Given the description of an element on the screen output the (x, y) to click on. 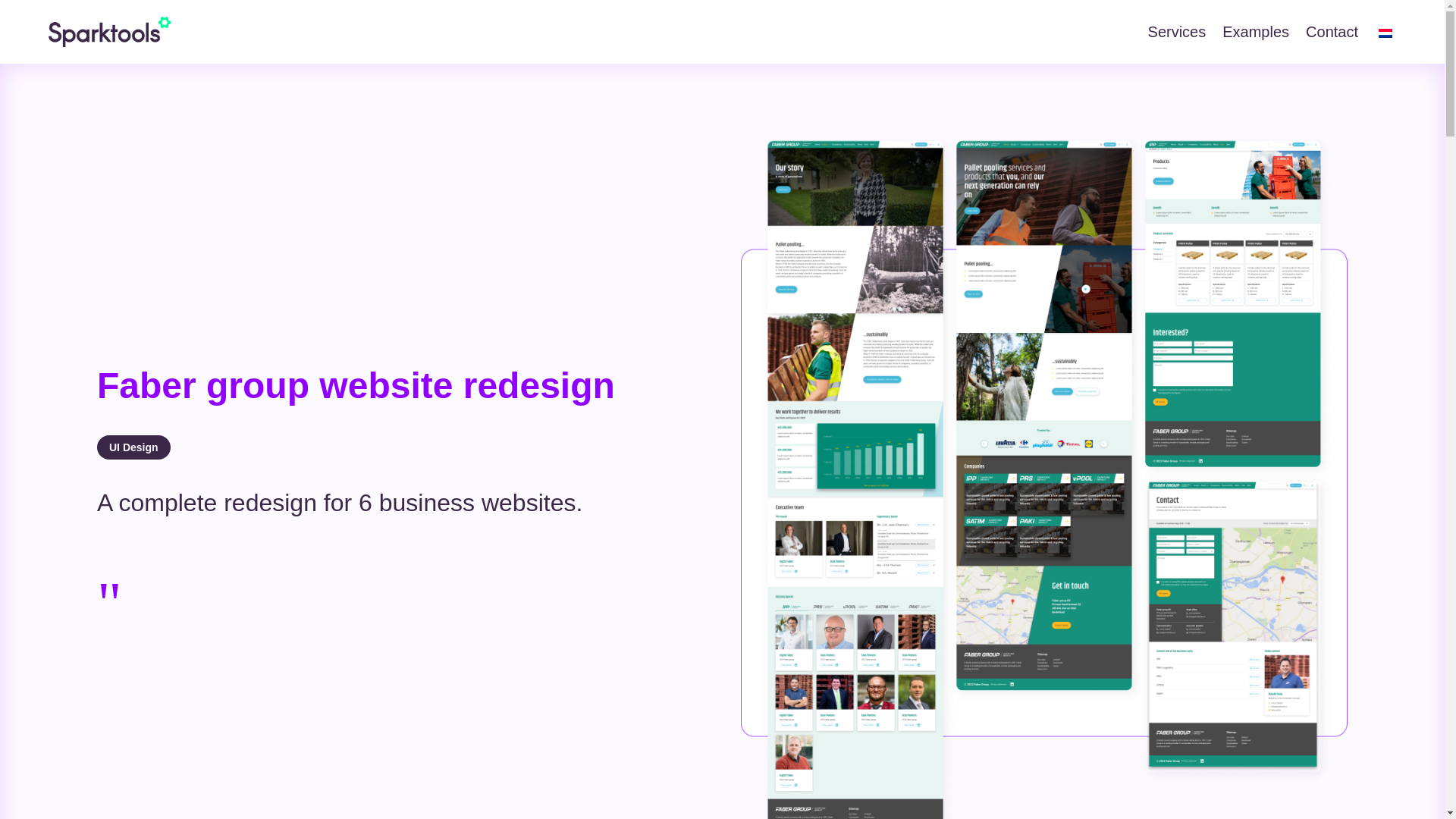
Faber (109, 620)
Nederlands (1384, 32)
Services (1177, 31)
Contact (1332, 31)
" (109, 620)
Examples (1255, 31)
